Given the description of an element on the screen output the (x, y) to click on. 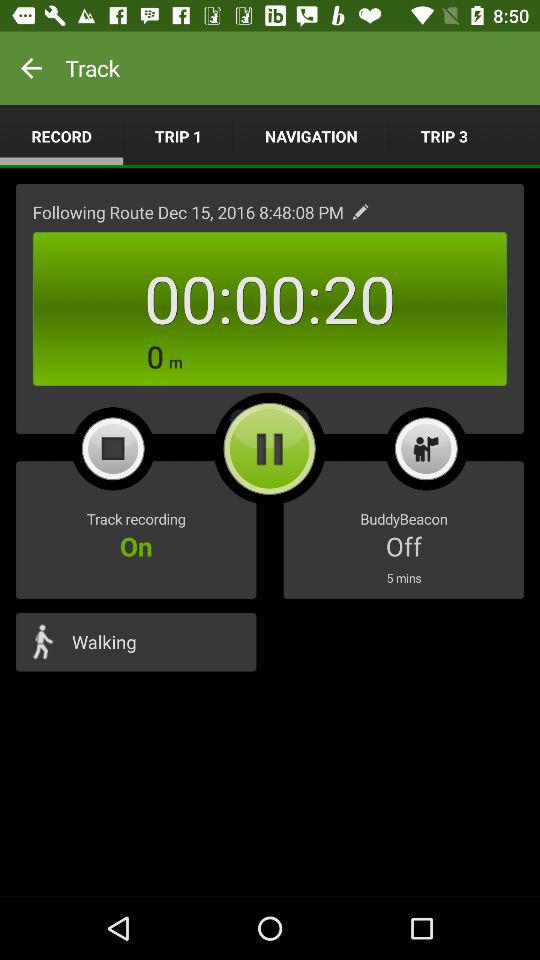
press icon next to the navigation icon (444, 136)
